Given the description of an element on the screen output the (x, y) to click on. 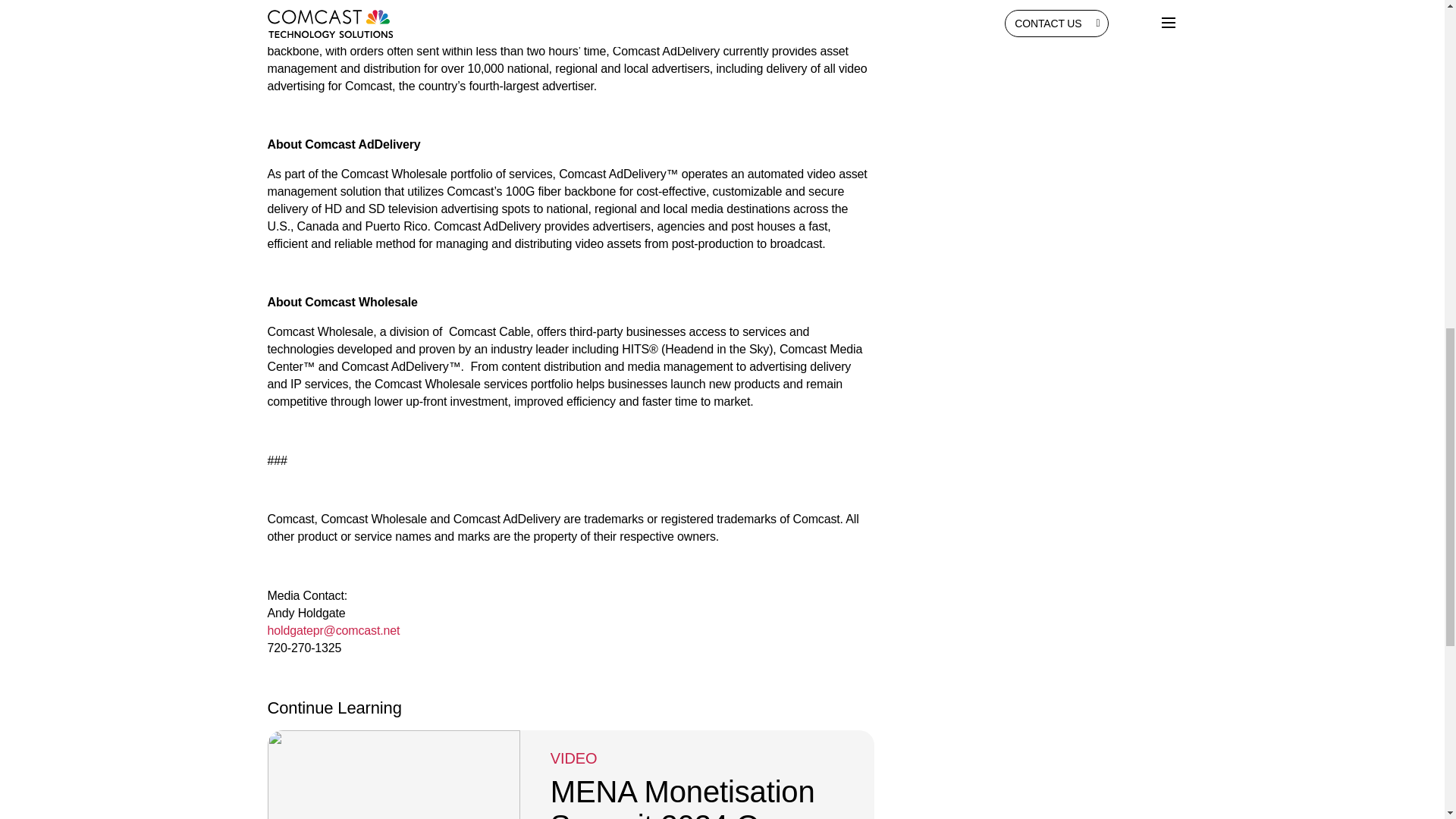
MENA Monetisation Summit 2024 On-demand (682, 803)
